Given the description of an element on the screen output the (x, y) to click on. 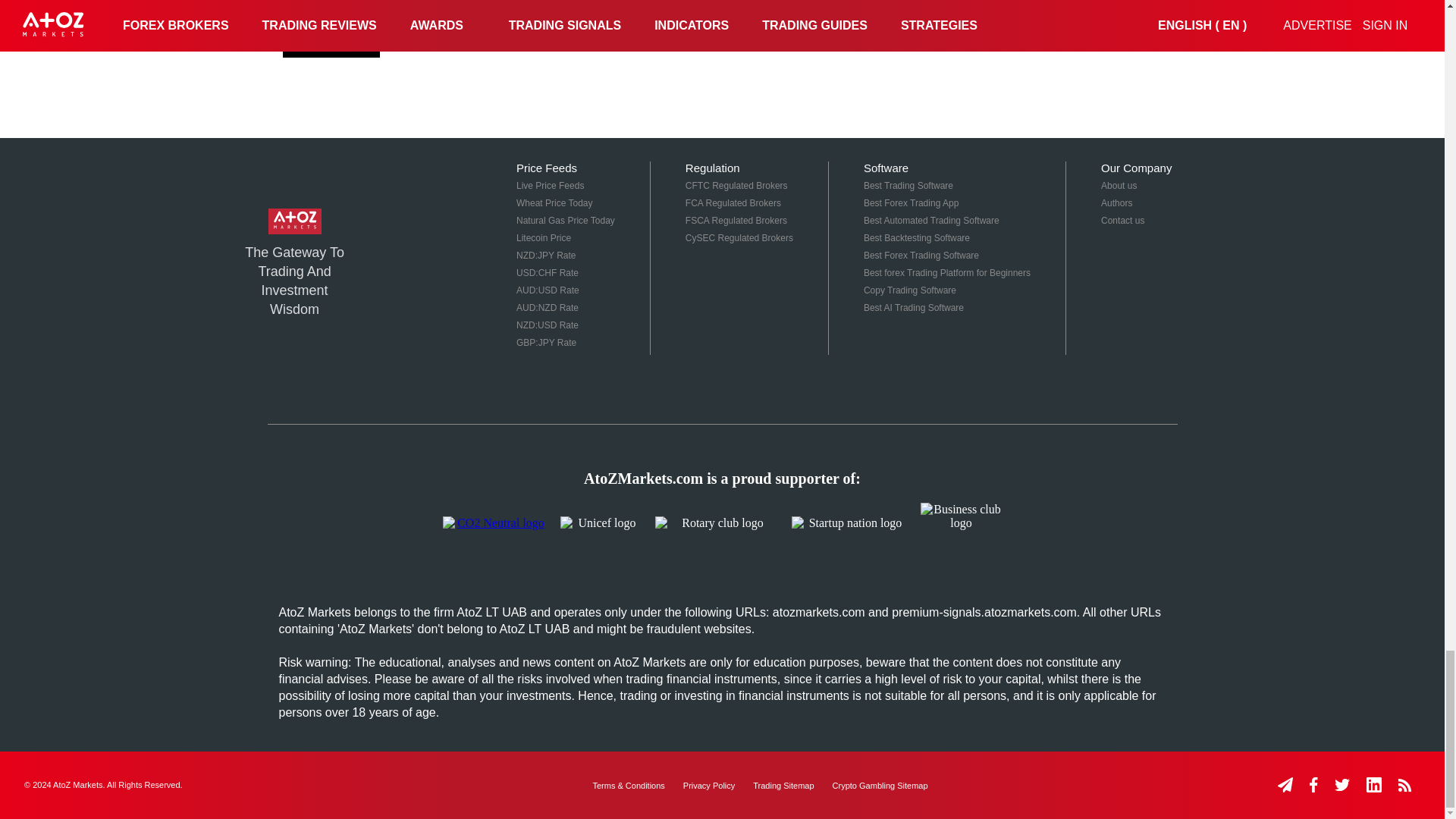
yes (287, 10)
Post Comment (330, 44)
